Given the description of an element on the screen output the (x, y) to click on. 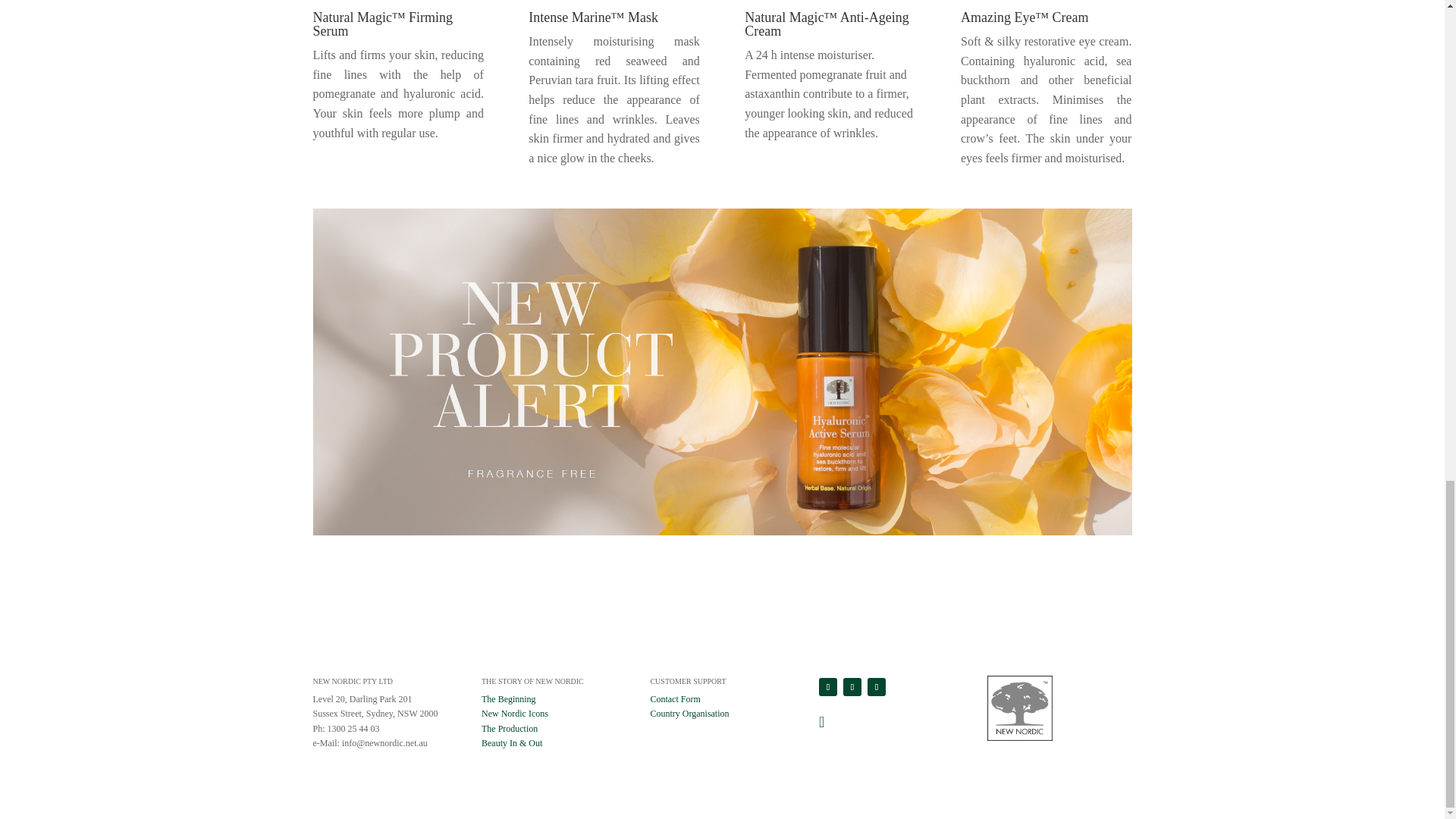
Follow on LinkedIn (876, 686)
New Nordic Logo (1019, 708)
Follow on Instagram (852, 686)
Follow on Facebook (827, 686)
